Given the description of an element on the screen output the (x, y) to click on. 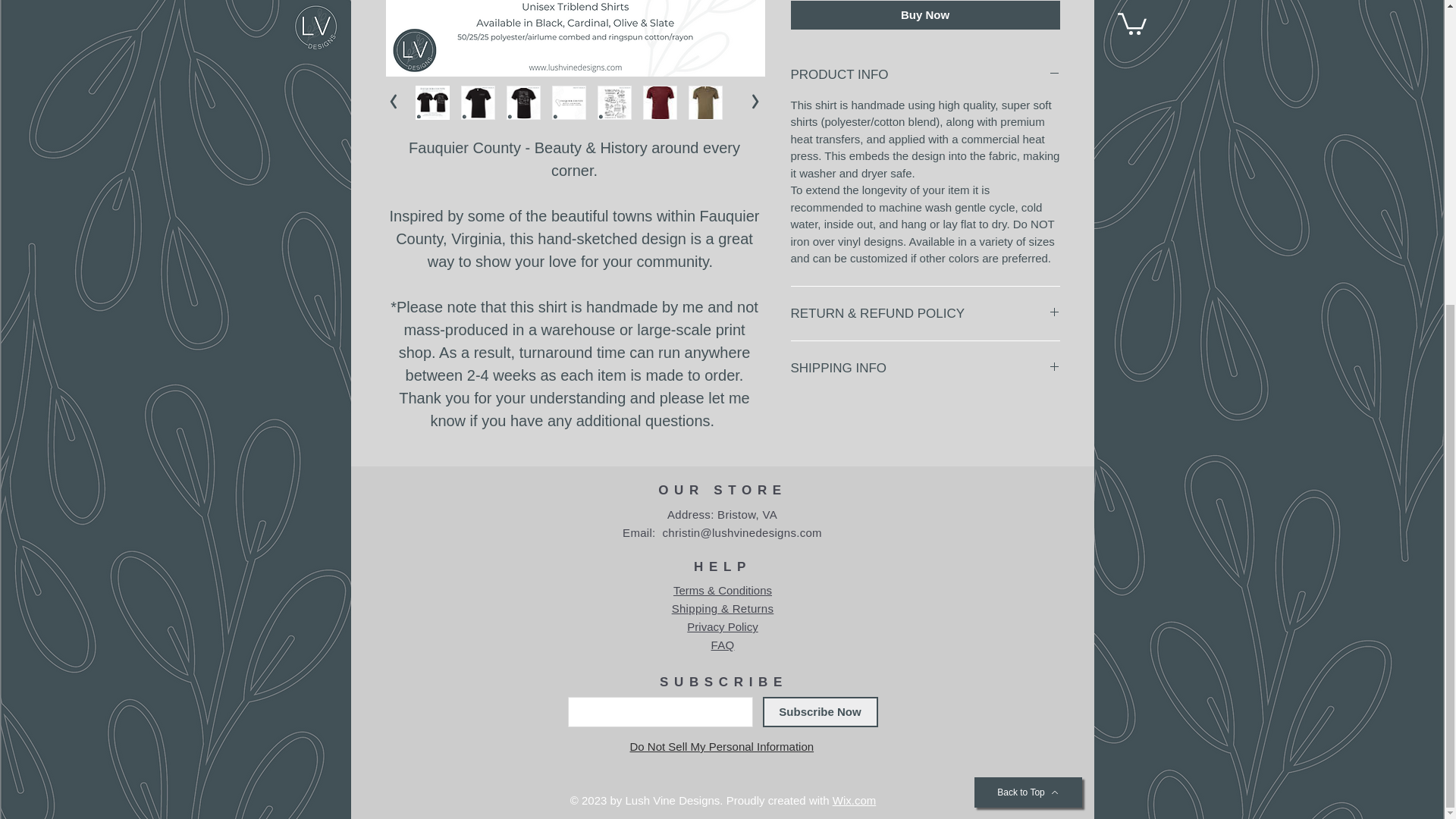
PRODUCT INFO (924, 75)
Do Not Sell My Personal Information (720, 746)
Subscribe Now (819, 711)
SHIPPING INFO (924, 368)
Buy Now (924, 14)
Privacy Policy (722, 626)
FAQ (723, 644)
